Given the description of an element on the screen output the (x, y) to click on. 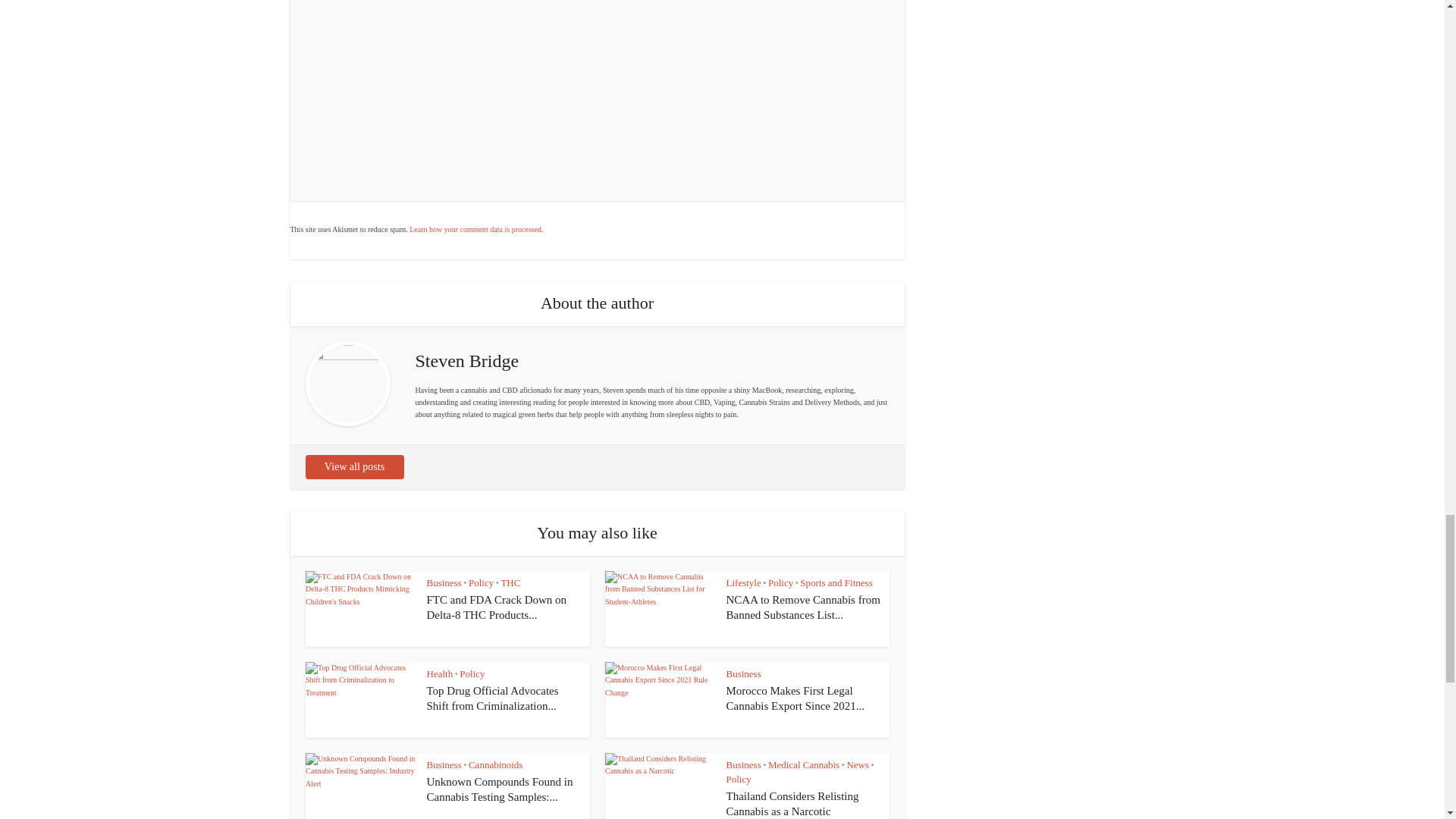
Comment Form (596, 90)
